Given the description of an element on the screen output the (x, y) to click on. 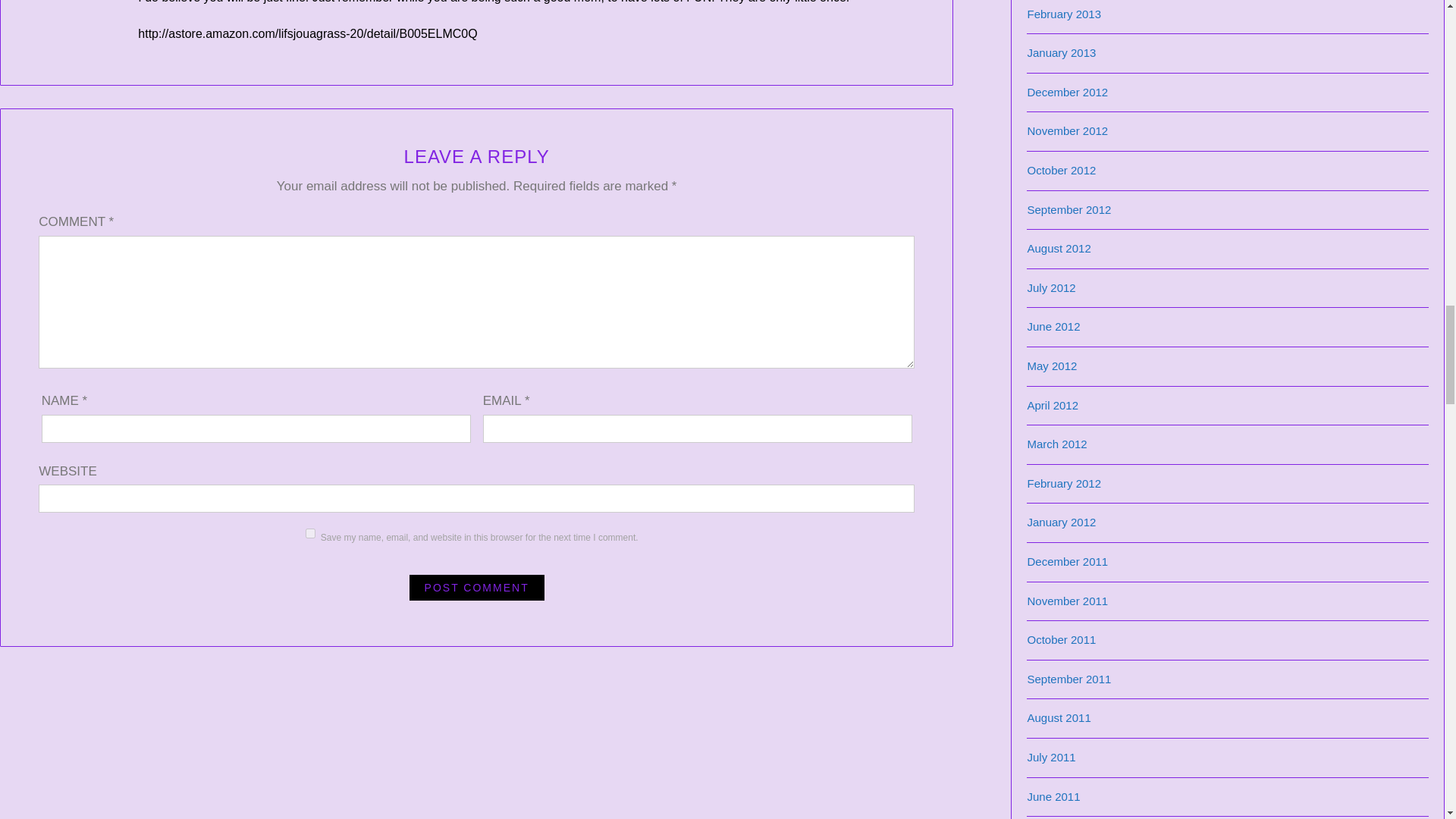
Post Comment (476, 587)
Post Comment (476, 587)
yes (310, 533)
